Given the description of an element on the screen output the (x, y) to click on. 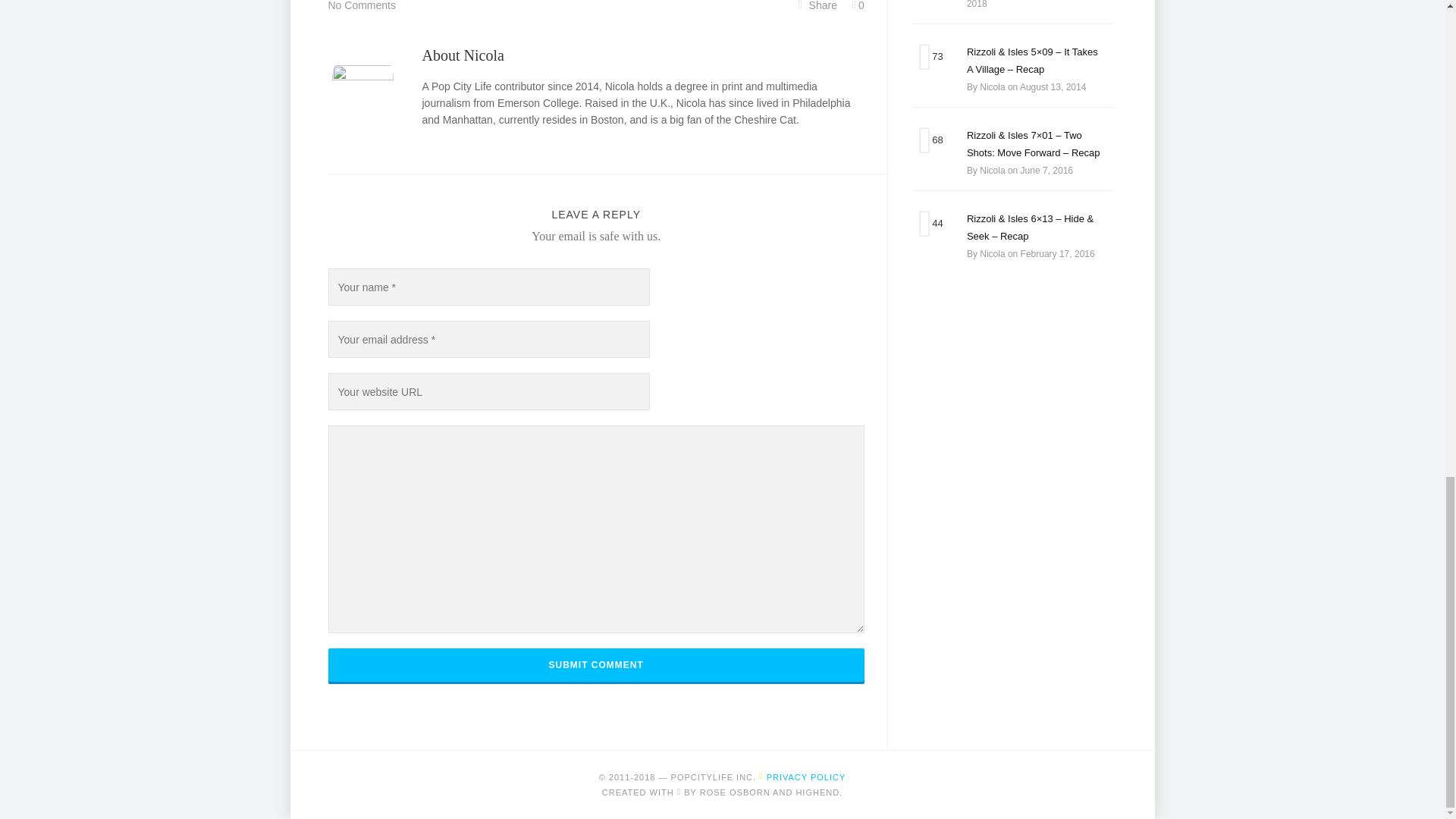
No Comments (360, 6)
Submit Comment (595, 664)
